Given the description of an element on the screen output the (x, y) to click on. 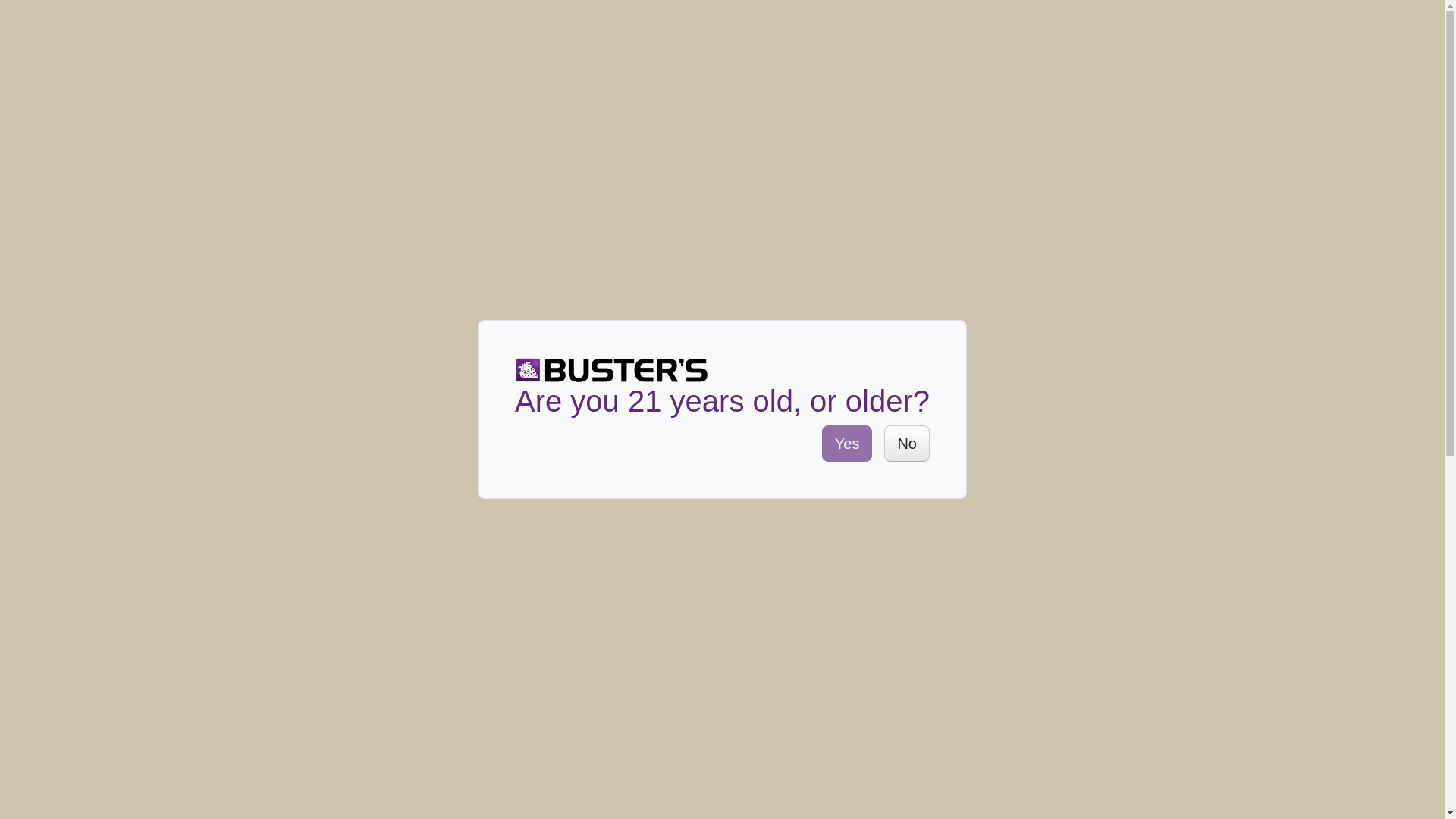
SPIRITS (338, 132)
Wine Spectator 89 point rating. (753, 272)
WINE (262, 132)
Wine Spectator 89 point rating. (777, 722)
